Given the description of an element on the screen output the (x, y) to click on. 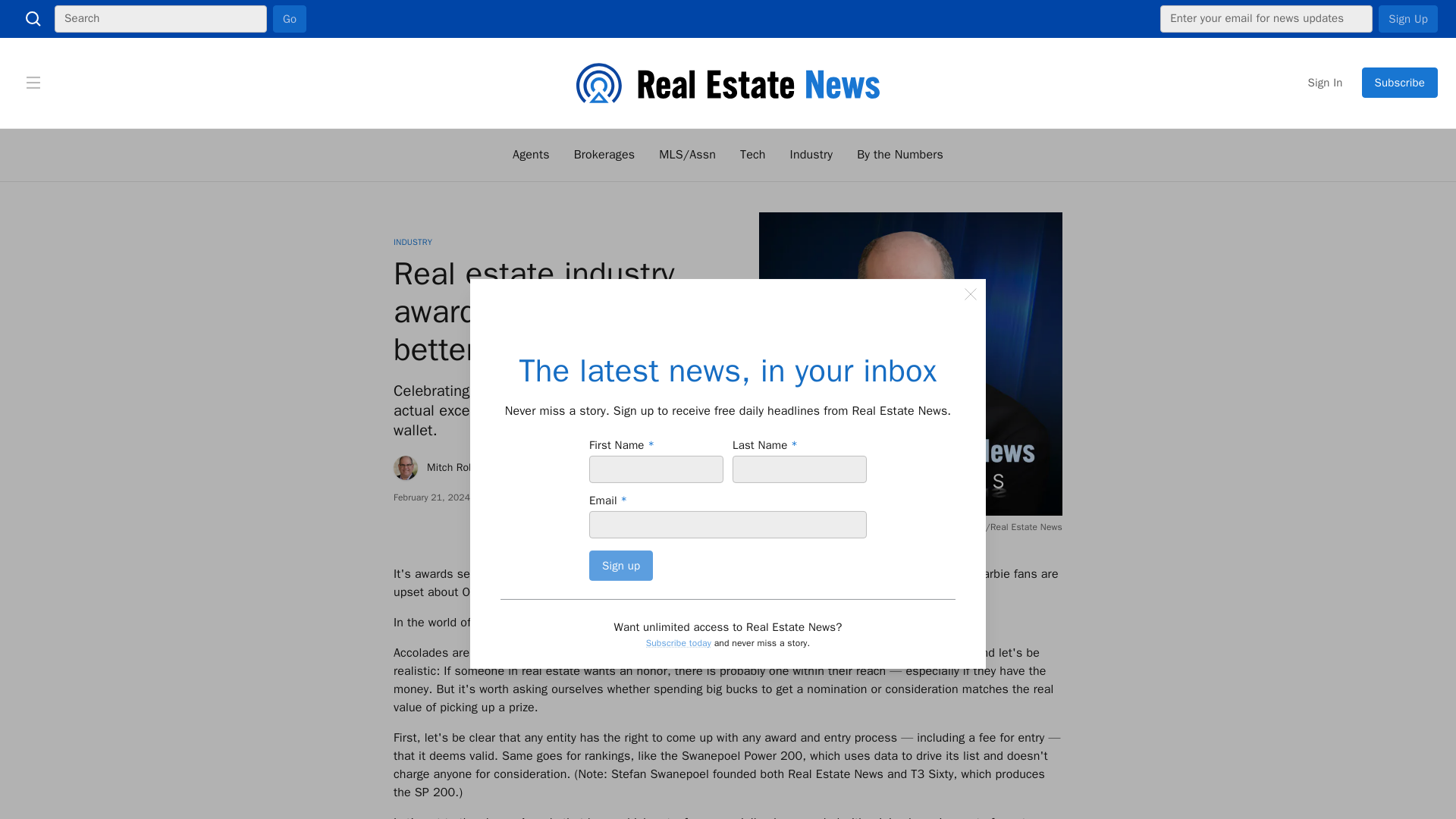
Sign In (1325, 82)
Subscribe today (678, 643)
Share on Facebook (686, 498)
Go (289, 18)
Copy link (710, 498)
Verified (514, 356)
Brokerages (603, 154)
Sign up (620, 565)
Email link (613, 498)
Subscribe (1399, 82)
INDUSTRY (412, 241)
Mitch Robinson (446, 467)
Sign Up (1408, 18)
Share on LinkedIn (661, 498)
Industry (811, 154)
